Given the description of an element on the screen output the (x, y) to click on. 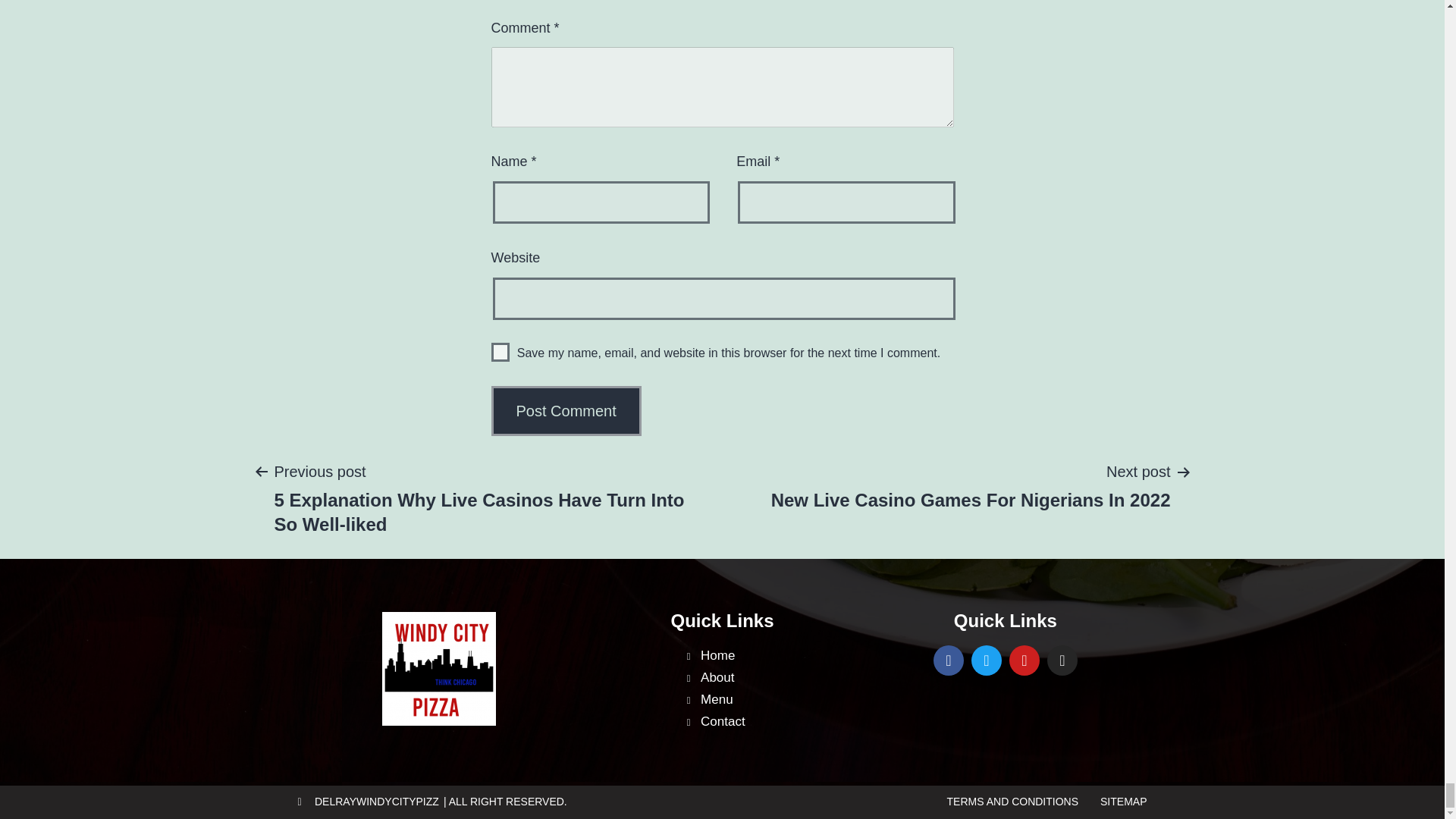
Post Comment (567, 410)
Menu (771, 700)
yes (500, 352)
About (771, 678)
Contact (771, 722)
Post Comment (970, 484)
Home (567, 410)
